Given the description of an element on the screen output the (x, y) to click on. 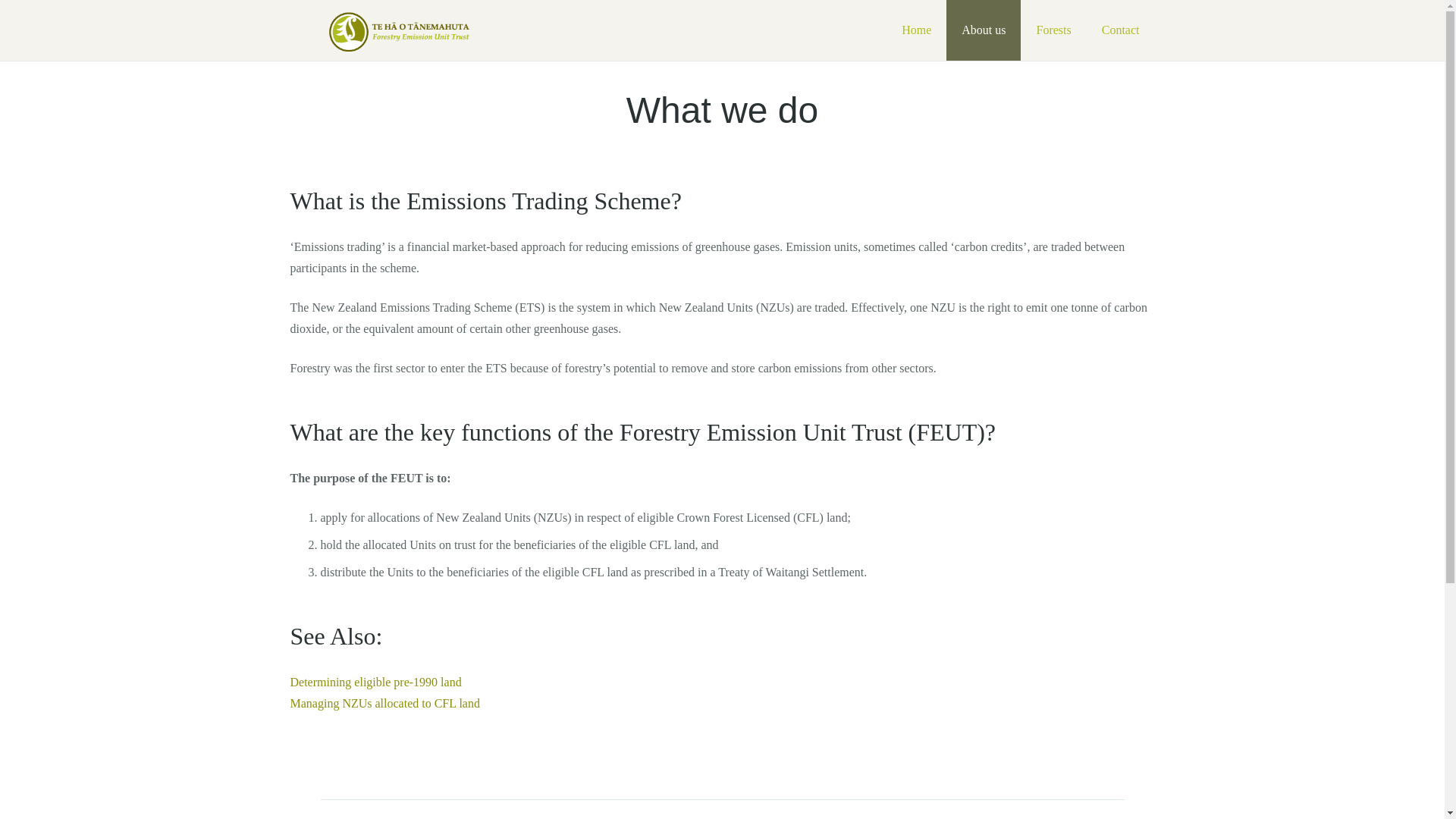
Determining eligible pre-1990 land (375, 681)
Home (916, 30)
Forests (1053, 30)
About us (983, 30)
Contact (1120, 30)
Managing NZUs allocated to CFL land (384, 703)
